Given the description of an element on the screen output the (x, y) to click on. 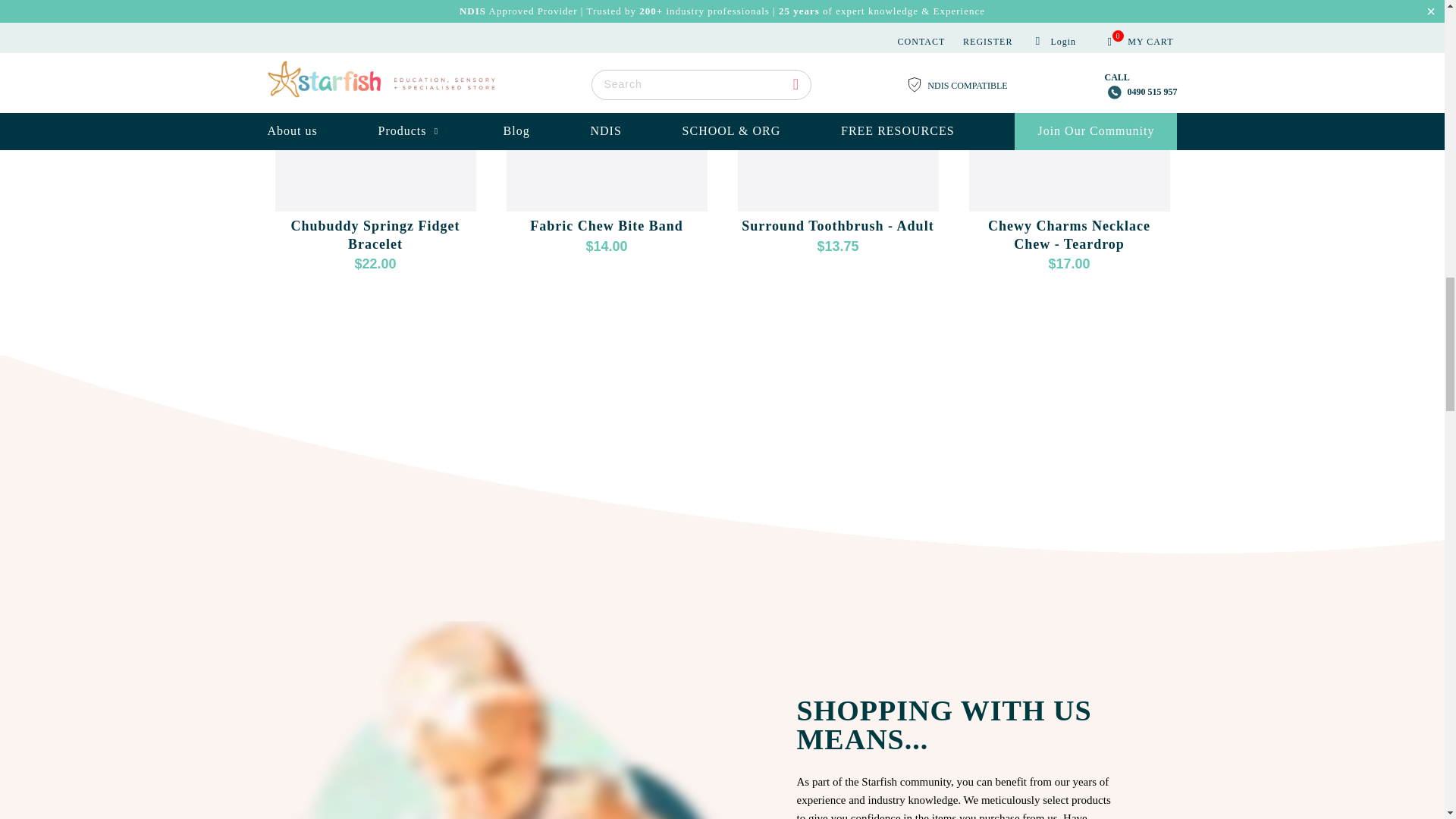
Surround Toothbrush - Adult (836, 107)
Chewy Charms Necklace Chew - Teardrop (1069, 107)
Fabric Chew Bite Band (606, 107)
Chubuddy Springz Fidget Bracelet (375, 107)
Fat Brain Coggy Puzzle (1299, 107)
